Given the description of an element on the screen output the (x, y) to click on. 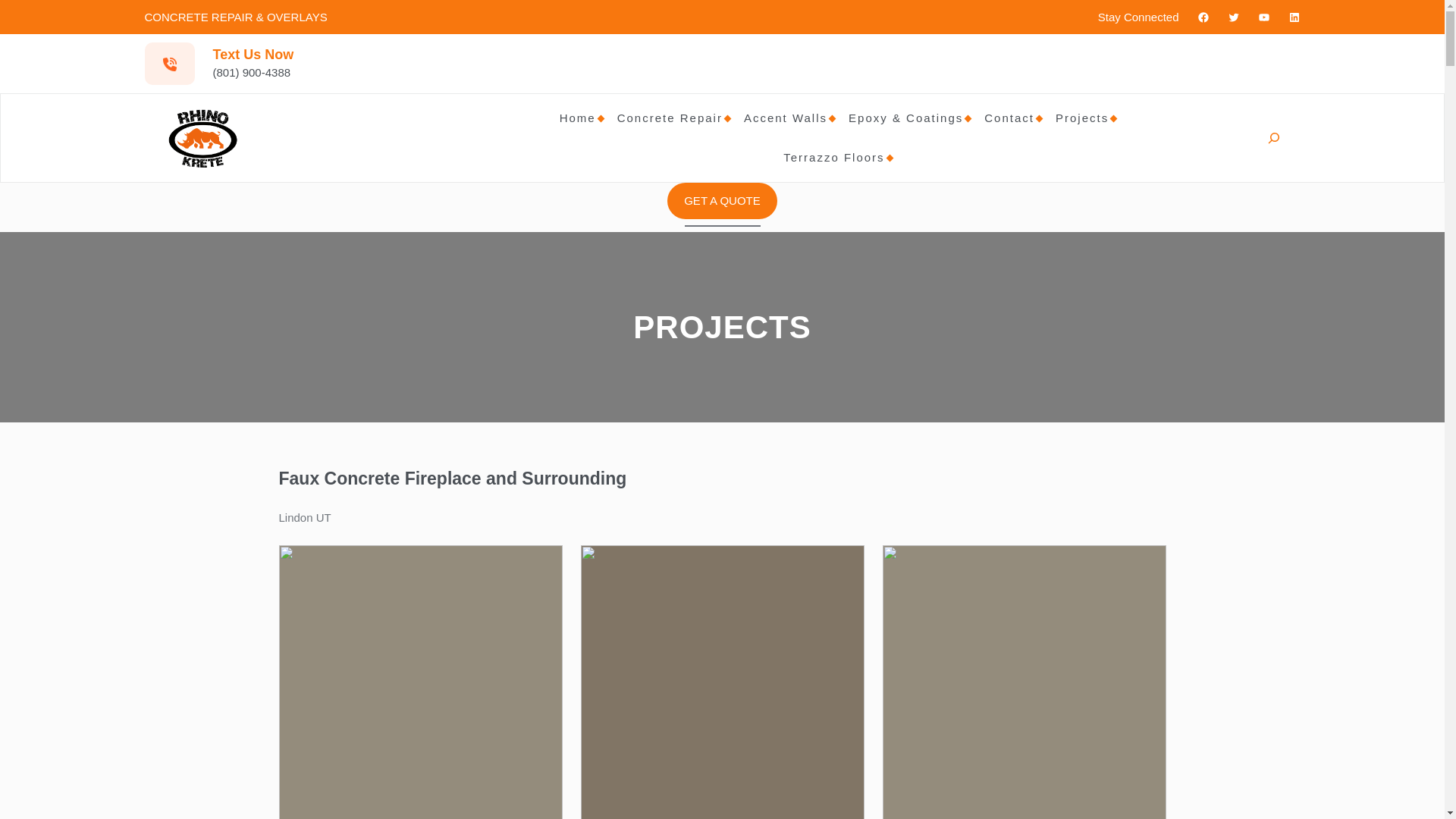
Facebook (1202, 17)
Home (577, 117)
Accent Walls (785, 117)
GET A QUOTE (721, 200)
Twitter (1233, 17)
Projects (1081, 117)
Concrete Repair (669, 117)
YouTube (1263, 17)
Contact (1008, 117)
LinkedIn (1293, 17)
